Given the description of an element on the screen output the (x, y) to click on. 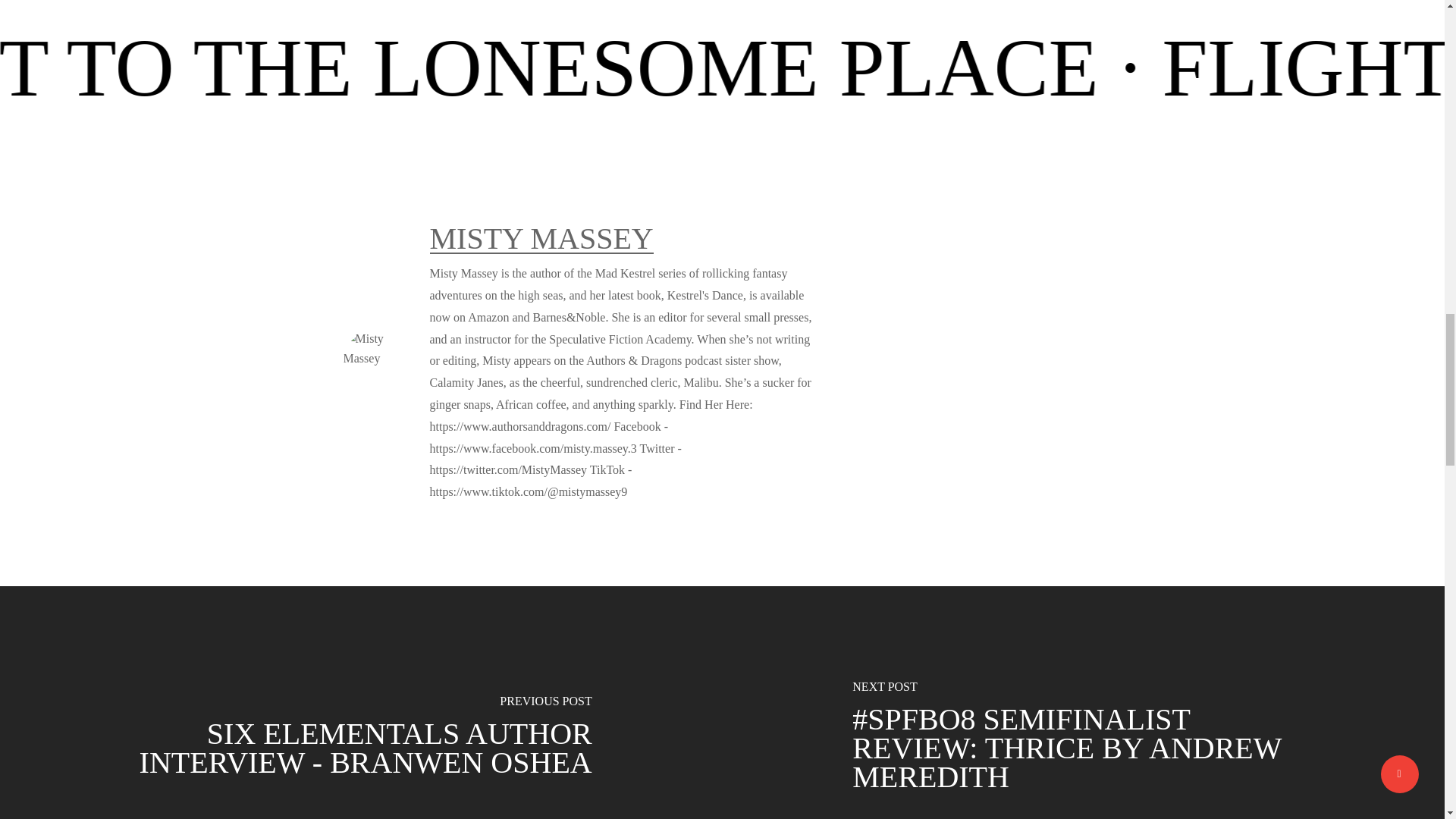
FLIGHT TO THE LONESOME PLACE (1134, 67)
MISTY MASSEY (540, 238)
